Given the description of an element on the screen output the (x, y) to click on. 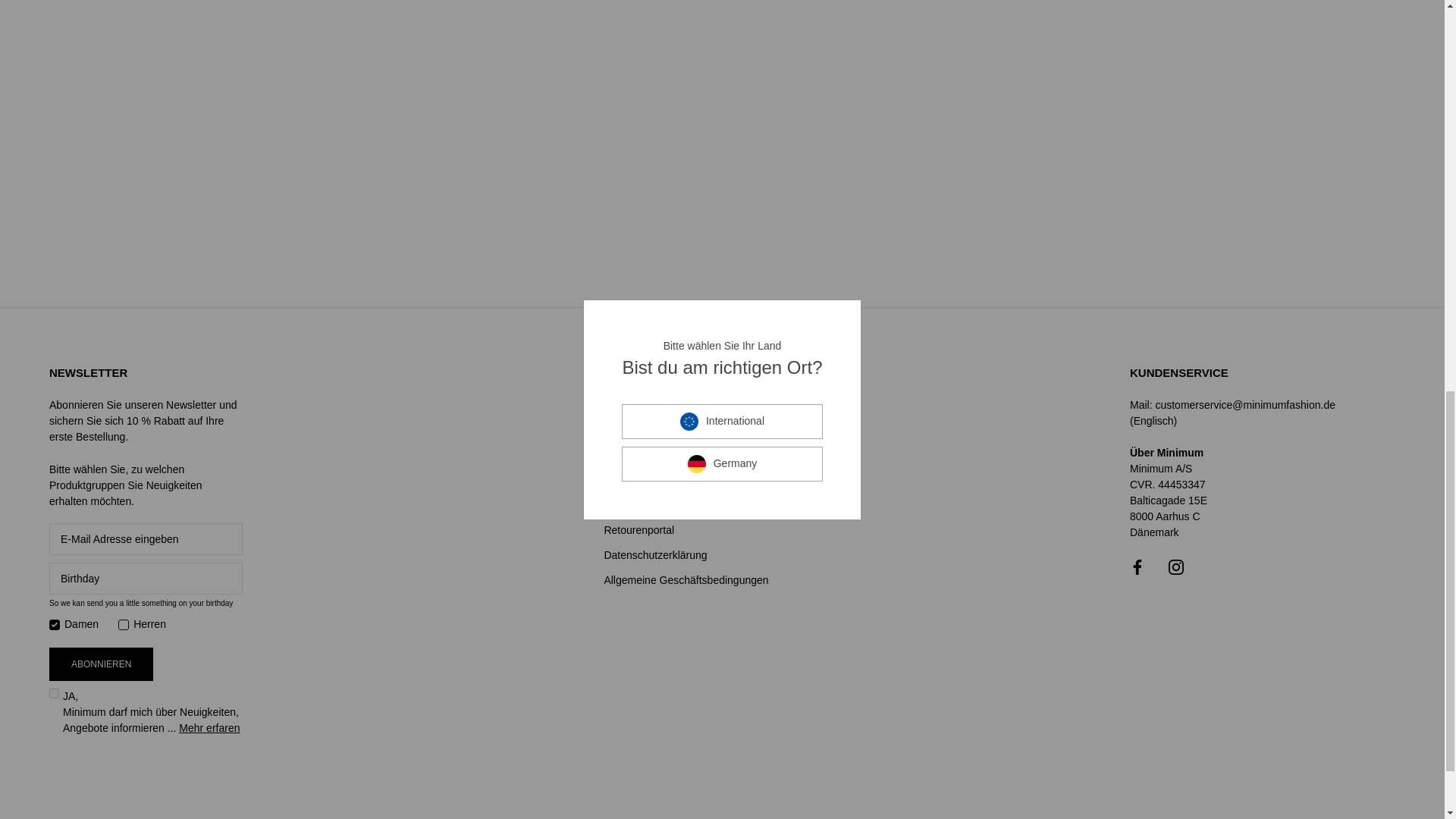
on (54, 693)
